Given the description of an element on the screen output the (x, y) to click on. 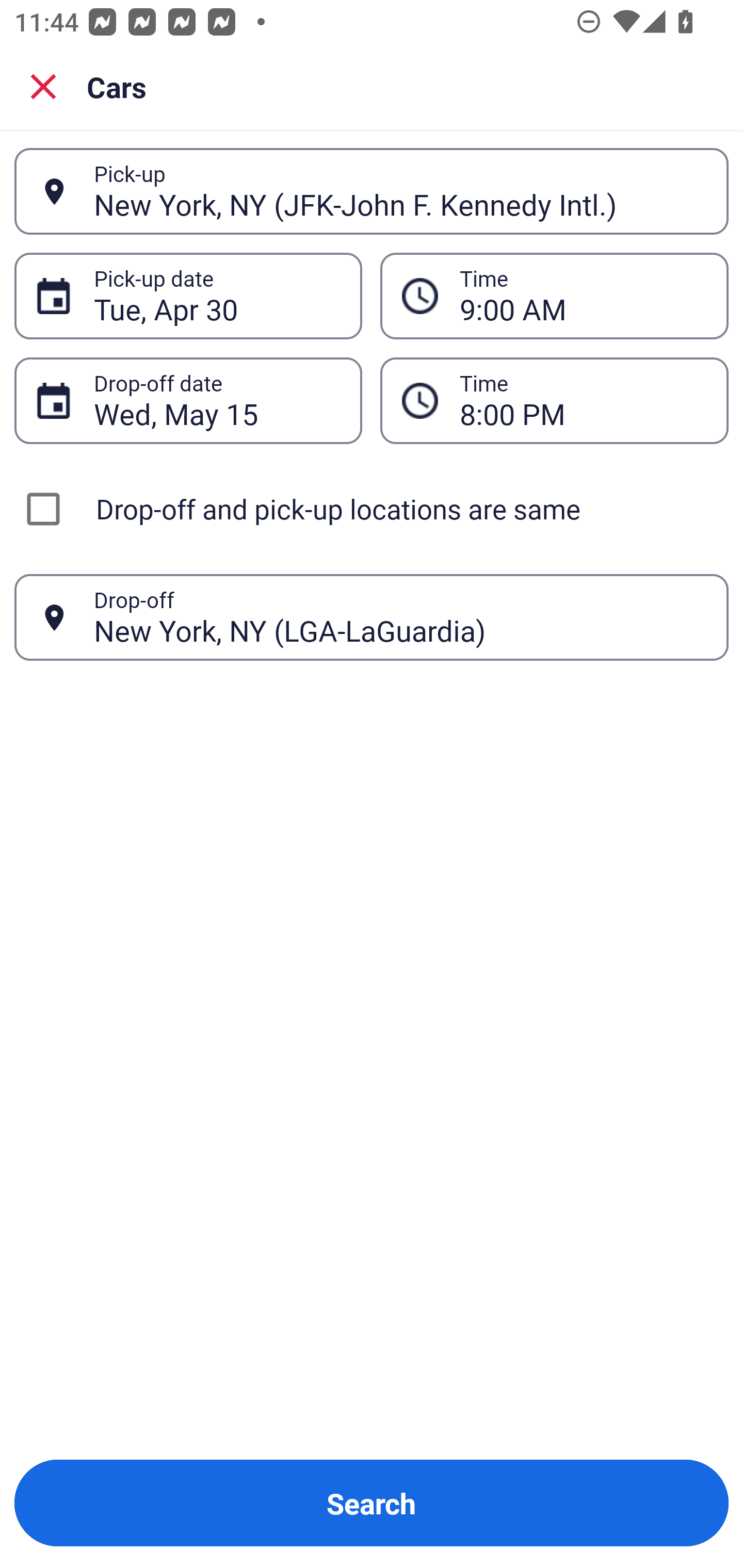
Close search screen (43, 86)
New York, NY (JFK-John F. Kennedy Intl.) Pick-up (371, 191)
New York, NY (JFK-John F. Kennedy Intl.) (399, 191)
Tue, Apr 30 Pick-up date (188, 295)
9:00 AM (554, 295)
Tue, Apr 30 (216, 296)
9:00 AM (582, 296)
Wed, May 15 Drop-off date (188, 400)
8:00 PM (554, 400)
Wed, May 15 (216, 400)
8:00 PM (582, 400)
Drop-off and pick-up locations are same (371, 508)
New York, NY (LGA-LaGuardia) Drop-off (371, 616)
New York, NY (LGA-LaGuardia) (399, 616)
Search Button Search (371, 1502)
